Given the description of an element on the screen output the (x, y) to click on. 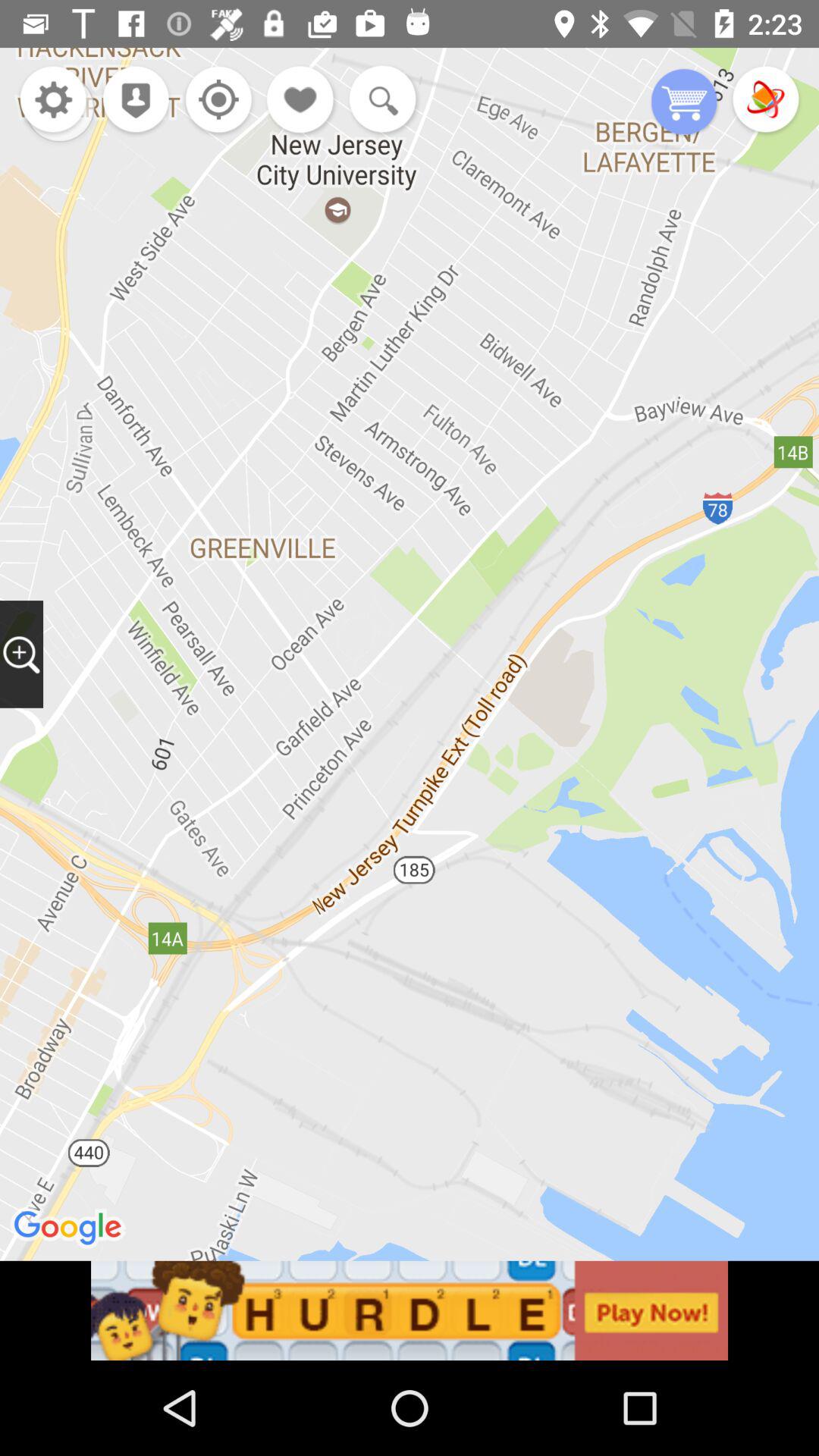
drag magnifier (21, 654)
